Given the description of an element on the screen output the (x, y) to click on. 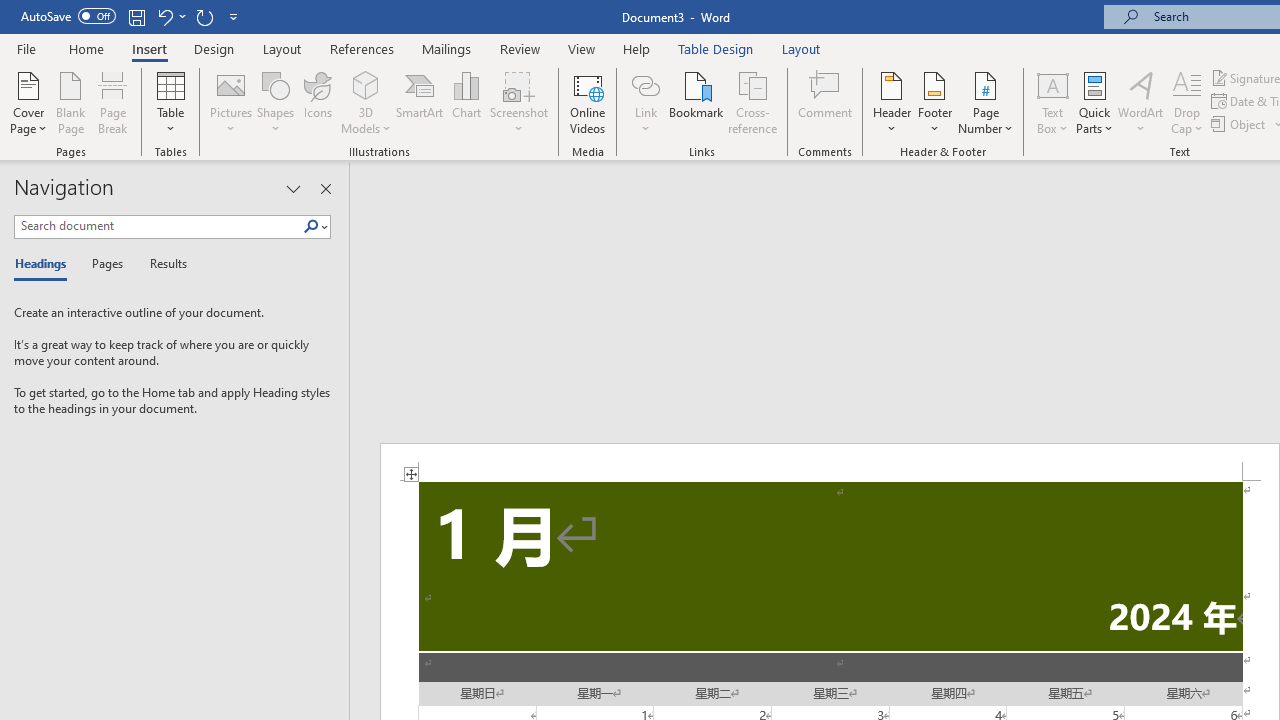
Design (214, 48)
Search document (157, 226)
Table Design (715, 48)
Comment (825, 102)
Quick Access Toolbar (131, 16)
Drop Cap (1187, 102)
Results (161, 264)
Undo Increase Indent (170, 15)
Home (86, 48)
Customize Quick Access Toolbar (234, 15)
System (10, 11)
3D Models (366, 102)
References (362, 48)
Search (311, 227)
Layout (801, 48)
